Given the description of an element on the screen output the (x, y) to click on. 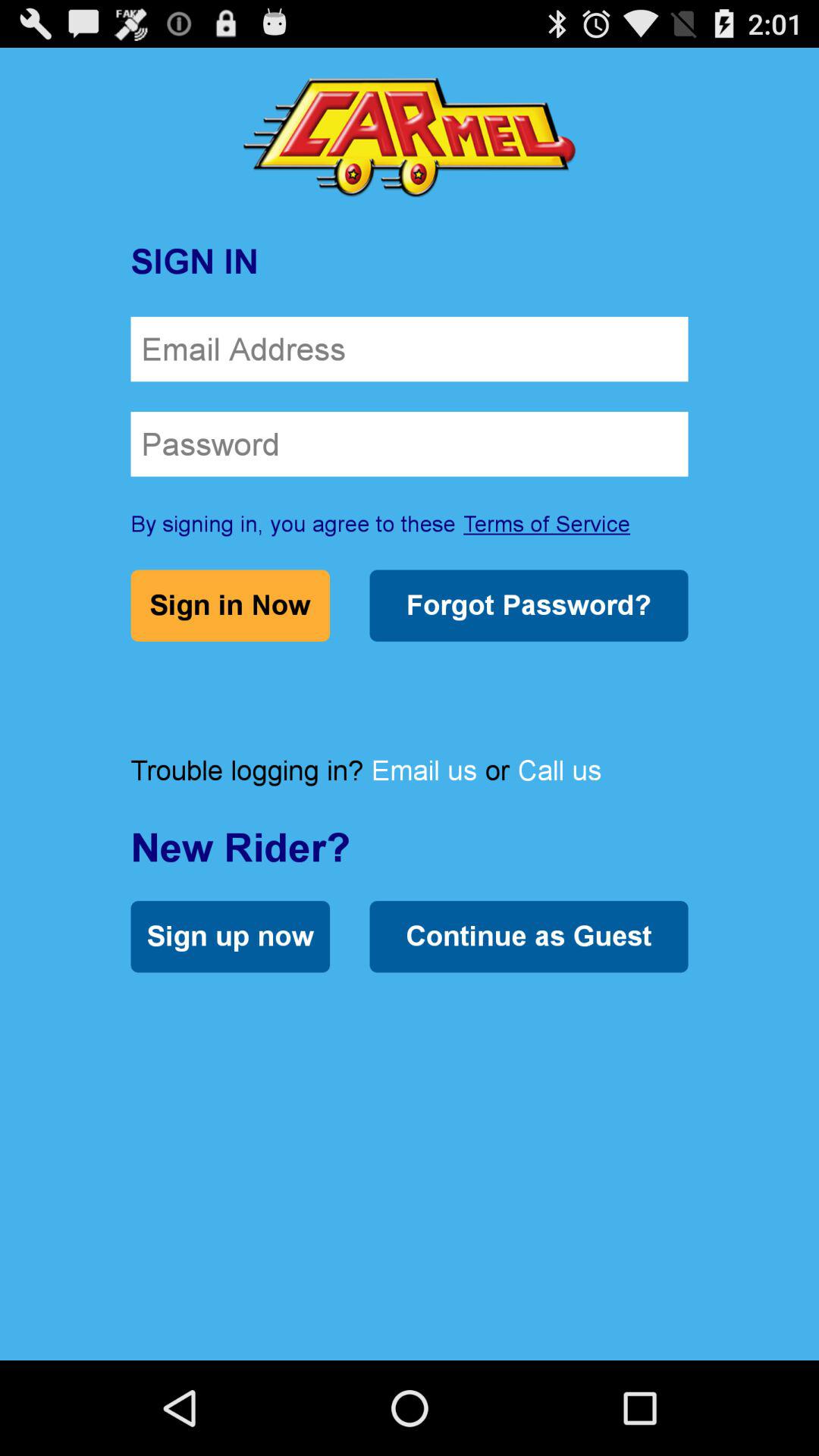
select item to the left of or icon (424, 770)
